Given the description of an element on the screen output the (x, y) to click on. 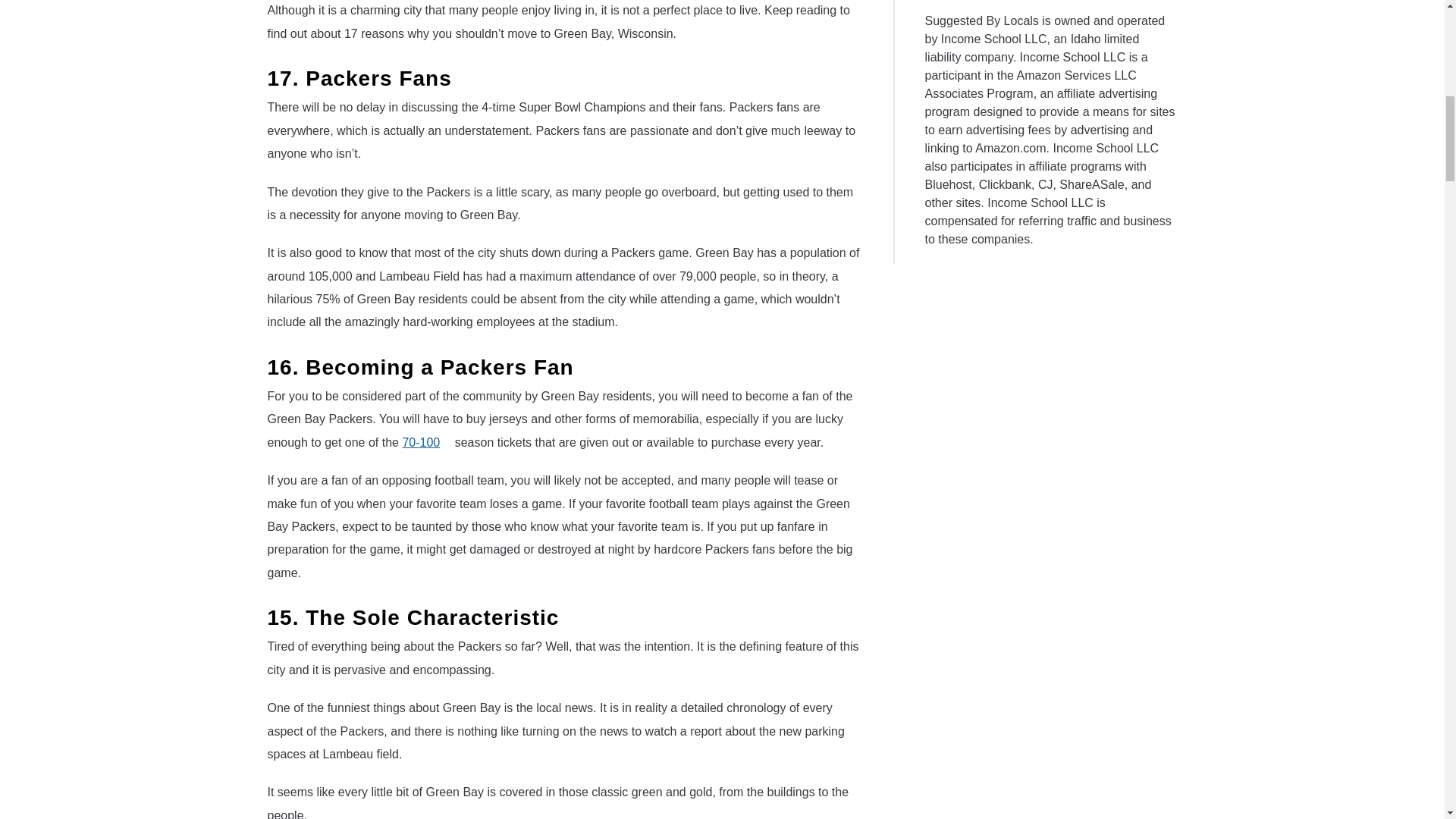
Opens in a new tab. (446, 438)
70-100 (426, 441)
